Given the description of an element on the screen output the (x, y) to click on. 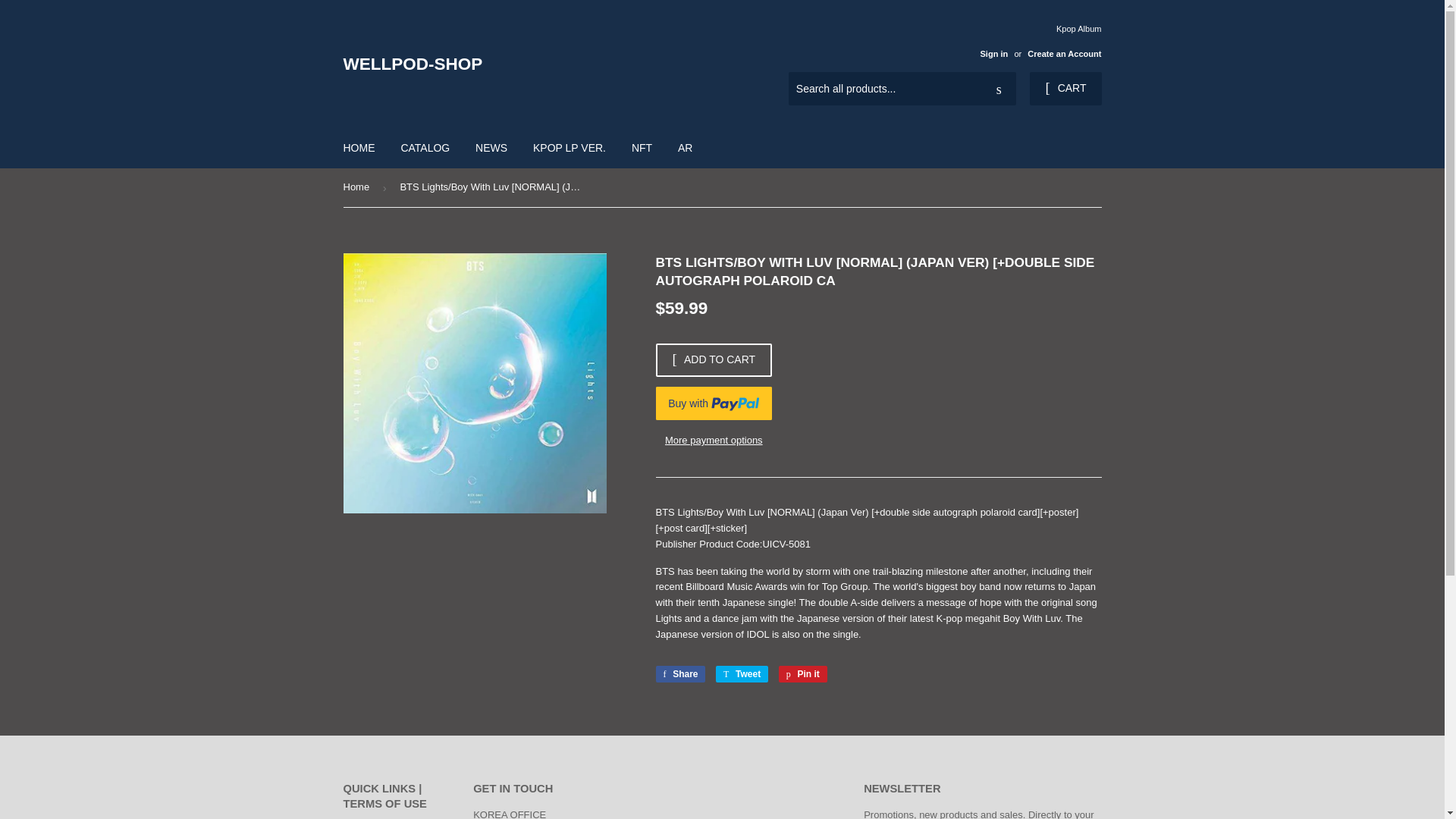
CATALOG (742, 673)
AR (424, 147)
Create an Account (684, 147)
Back to the frontpage (1063, 53)
Tweet on Twitter (358, 187)
CART (679, 673)
Pin on Pinterest (742, 673)
HOME (1064, 88)
NFT (802, 673)
Home (359, 147)
Sign in (641, 147)
Share on Facebook (358, 187)
